Given the description of an element on the screen output the (x, y) to click on. 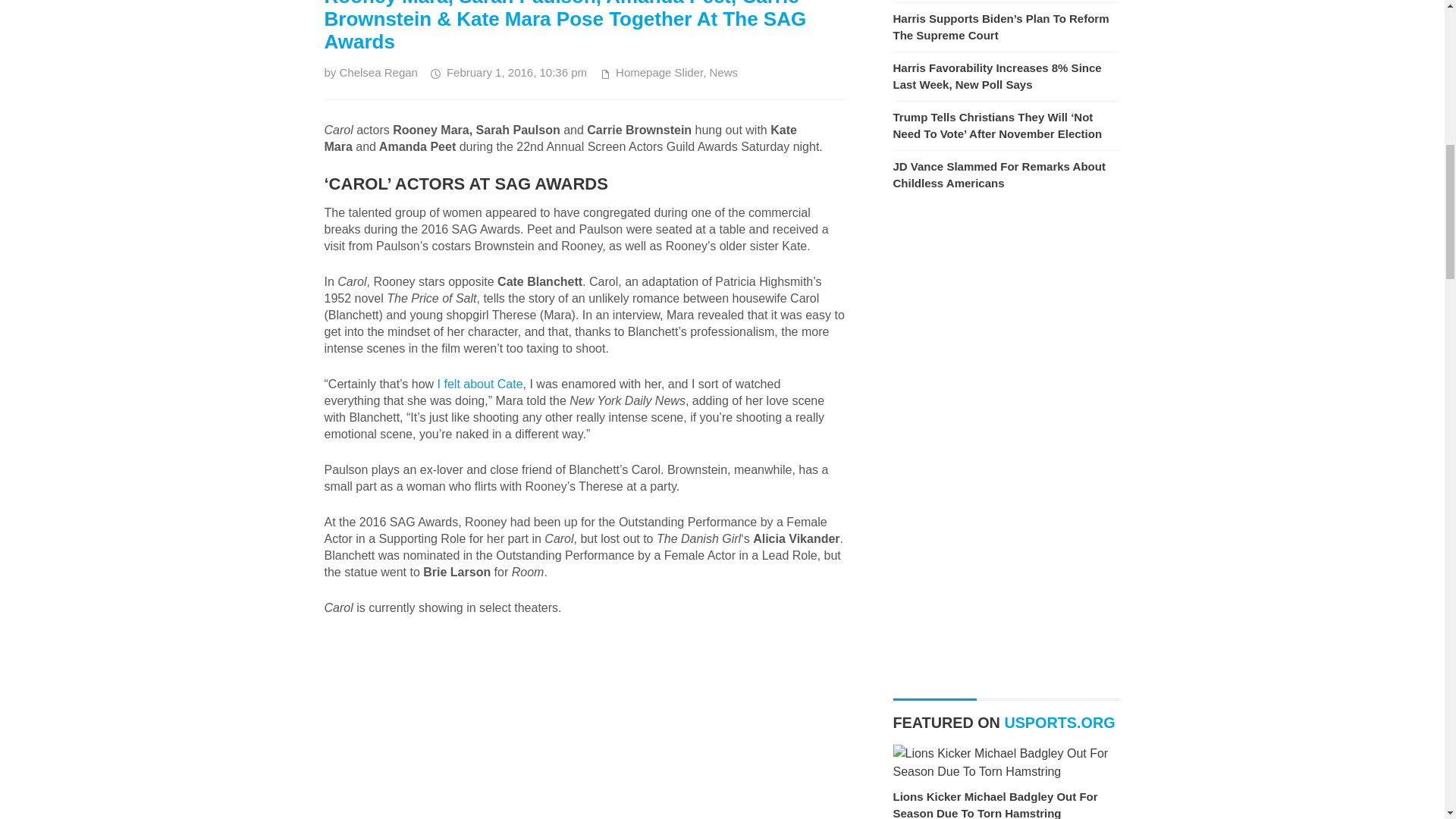
I felt about Cate (480, 383)
News (723, 72)
Homepage Slider (659, 72)
JD Vance Slammed For Remarks About Childless Americans (999, 174)
